Given the description of an element on the screen output the (x, y) to click on. 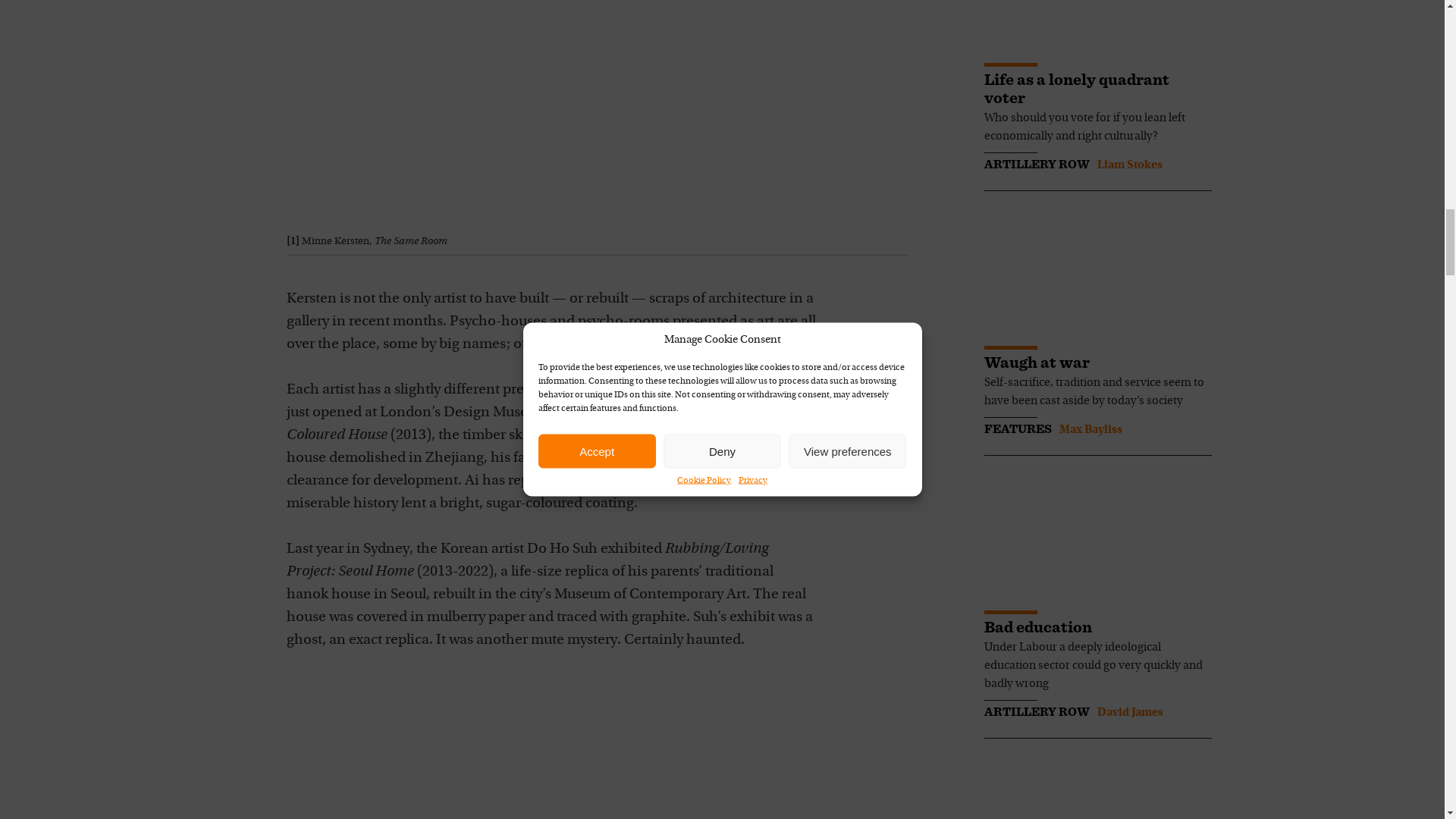
Posts by Liam Stokes (1128, 164)
Posts by David James (1128, 712)
Posts by Max Bayliss (1089, 429)
